Given the description of an element on the screen output the (x, y) to click on. 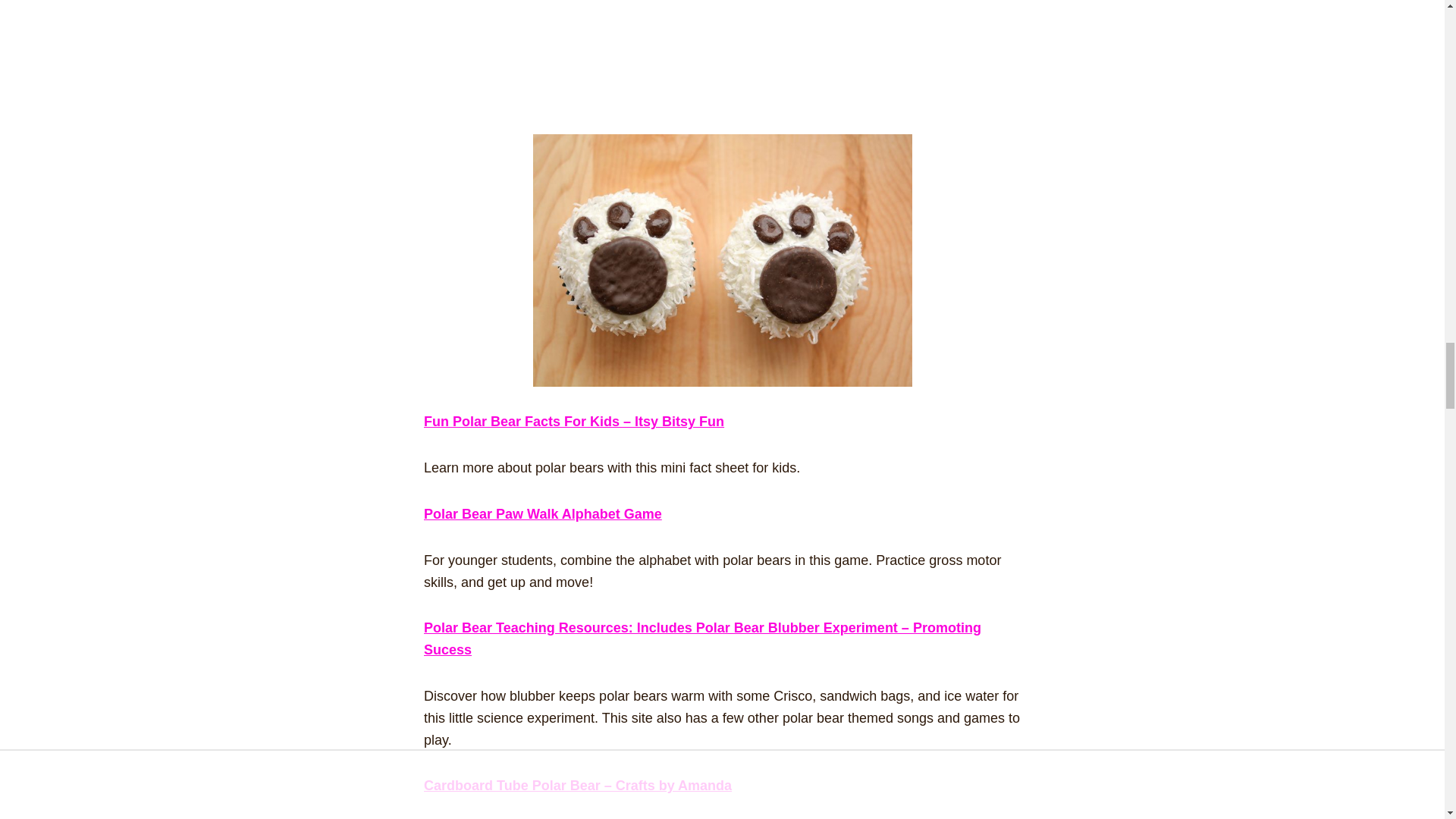
Polar Bear Paw Walk Alphabet Game (542, 513)
